Given the description of an element on the screen output the (x, y) to click on. 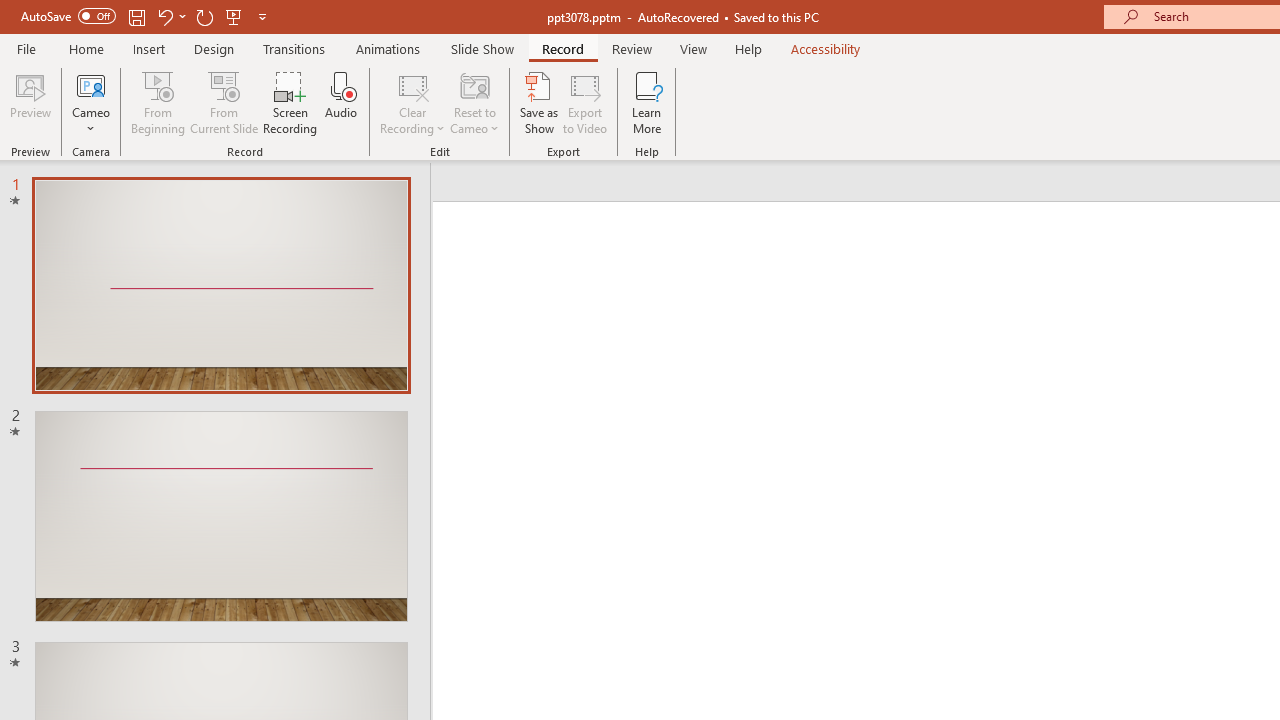
Export to Video (585, 102)
From Current Slide... (224, 102)
